Given the description of an element on the screen output the (x, y) to click on. 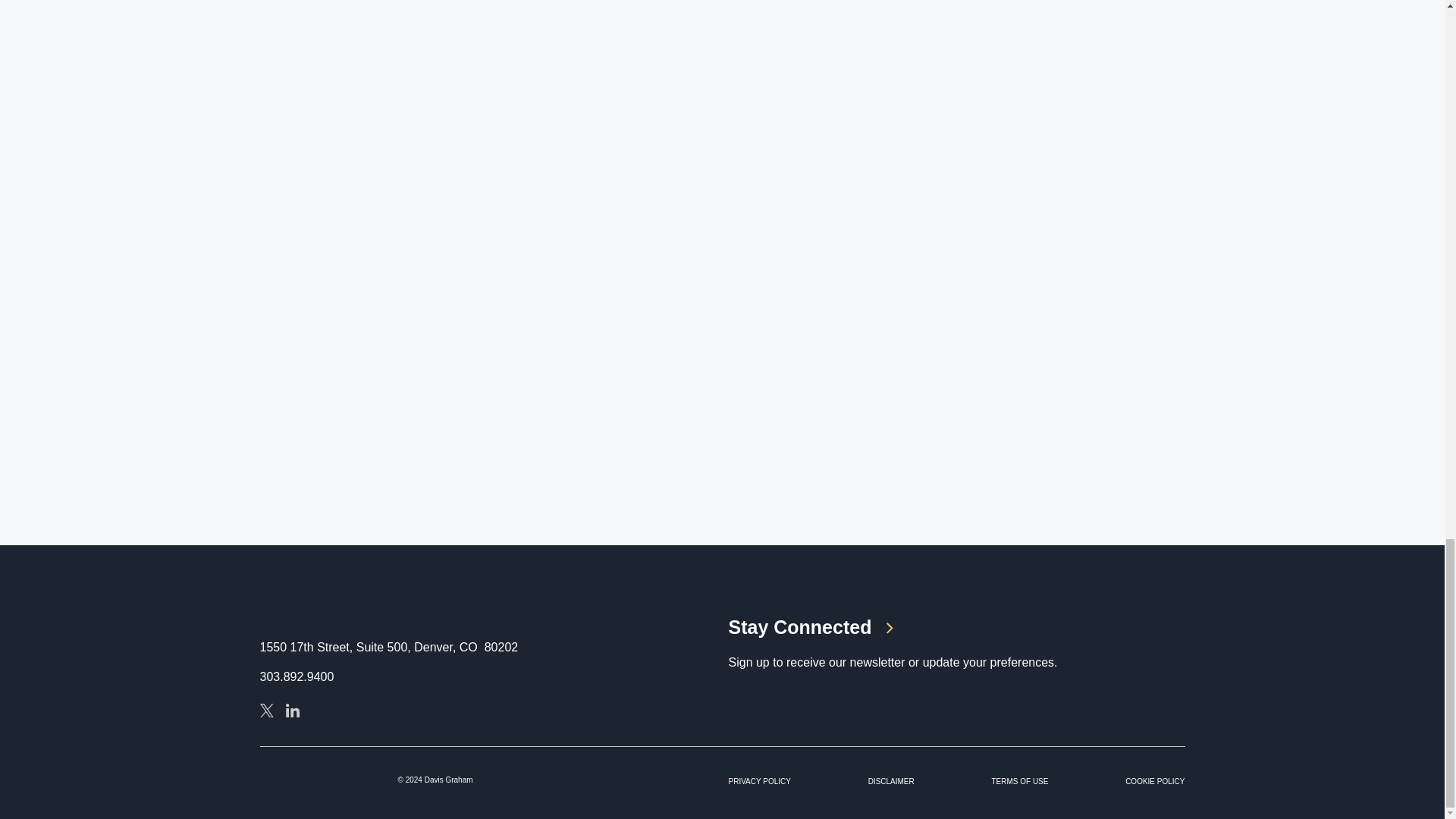
TERMS OF USE (1019, 781)
Stay Connected (956, 627)
PRIVACY POLICY (759, 781)
303.892.9400 (296, 676)
COOKIE POLICY (1155, 781)
DISCLAIMER (890, 781)
